Given the description of an element on the screen output the (x, y) to click on. 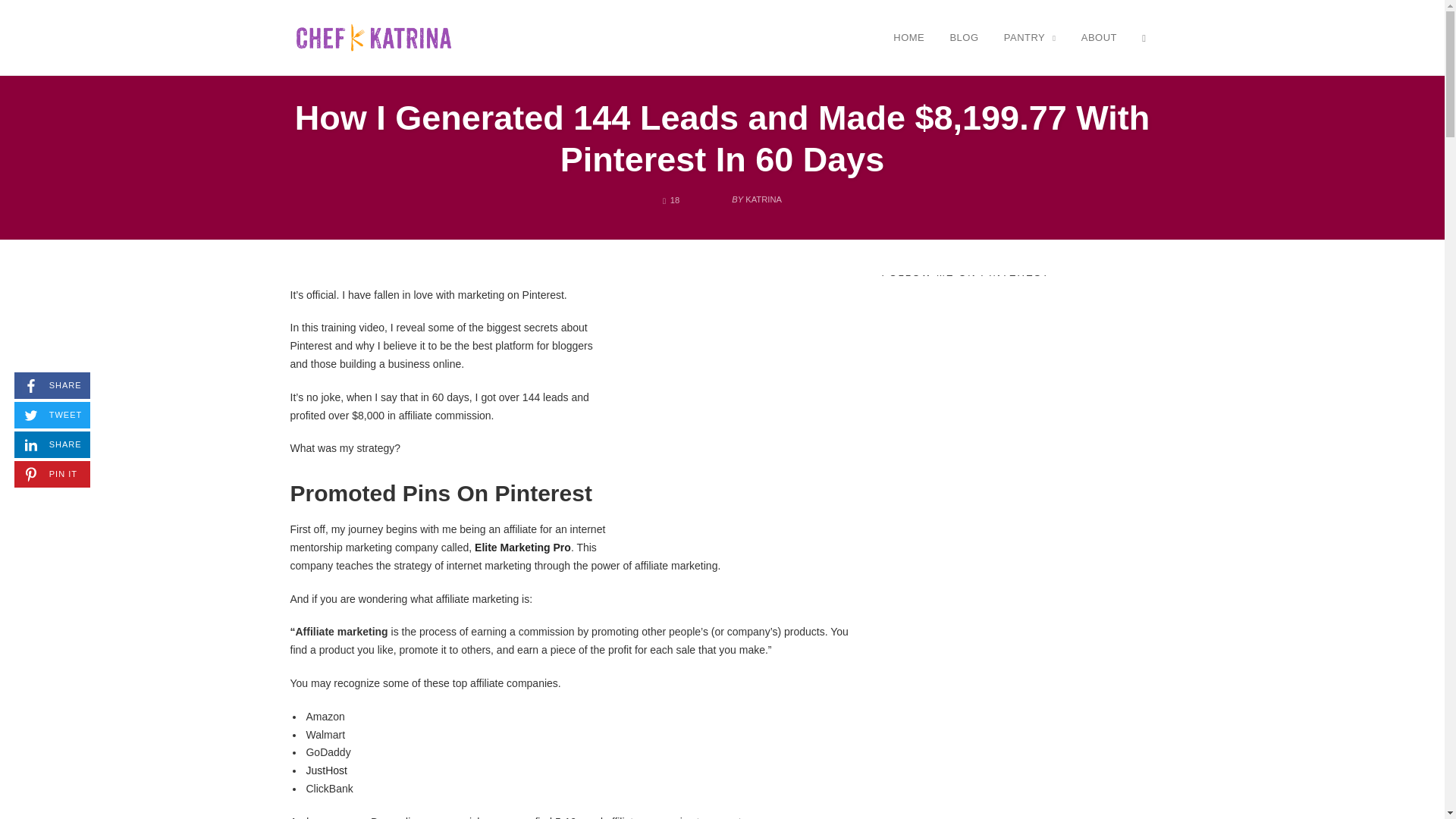
OPEN SEARCH FORM (1144, 37)
Chef Katrina (52, 444)
PANTRY (373, 37)
JustHost (1029, 37)
HOME (325, 770)
ABOUT (909, 37)
BY KATRINA (52, 385)
